Given the description of an element on the screen output the (x, y) to click on. 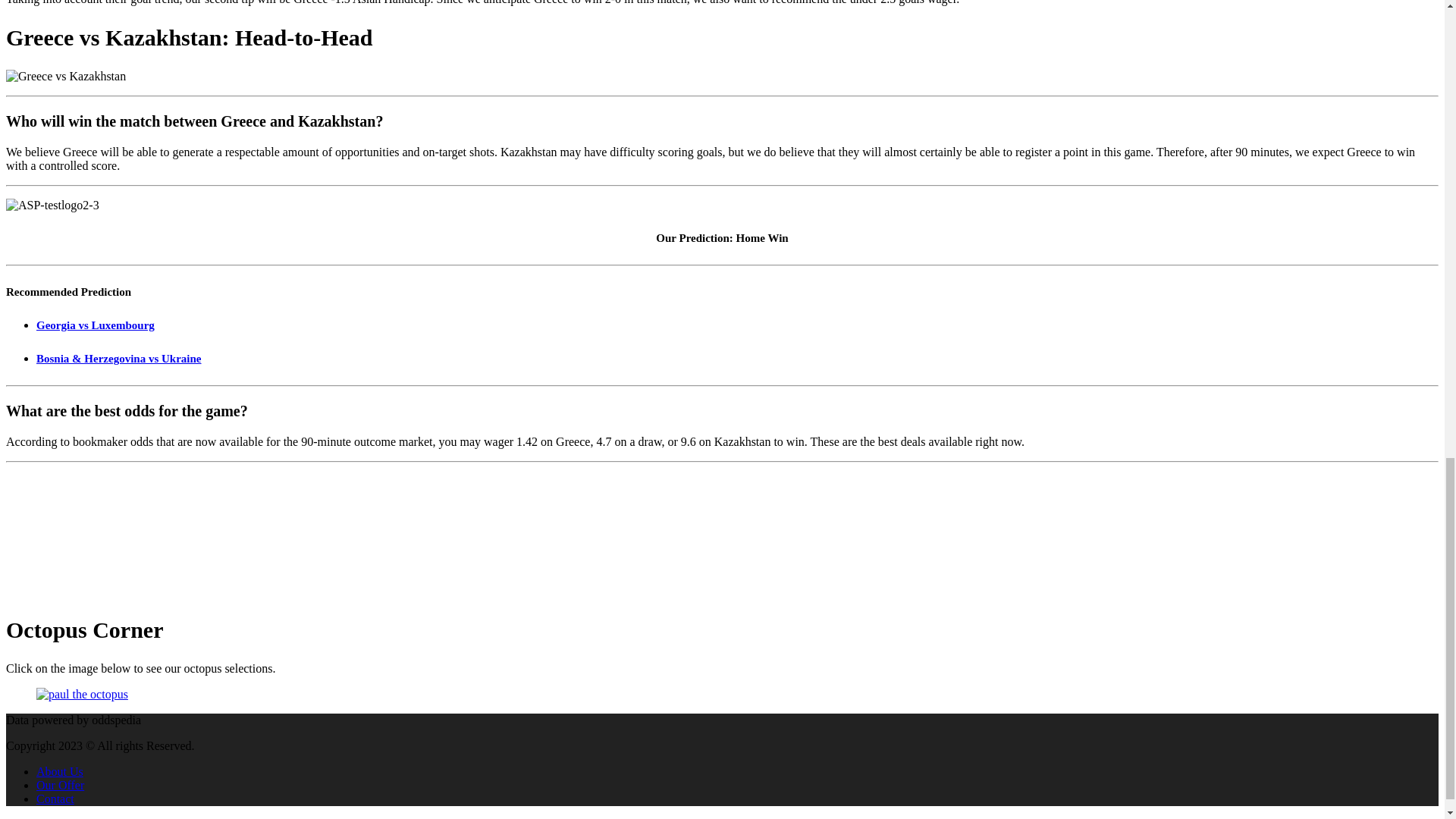
Georgia vs Luxembourg (95, 325)
